Given the description of an element on the screen output the (x, y) to click on. 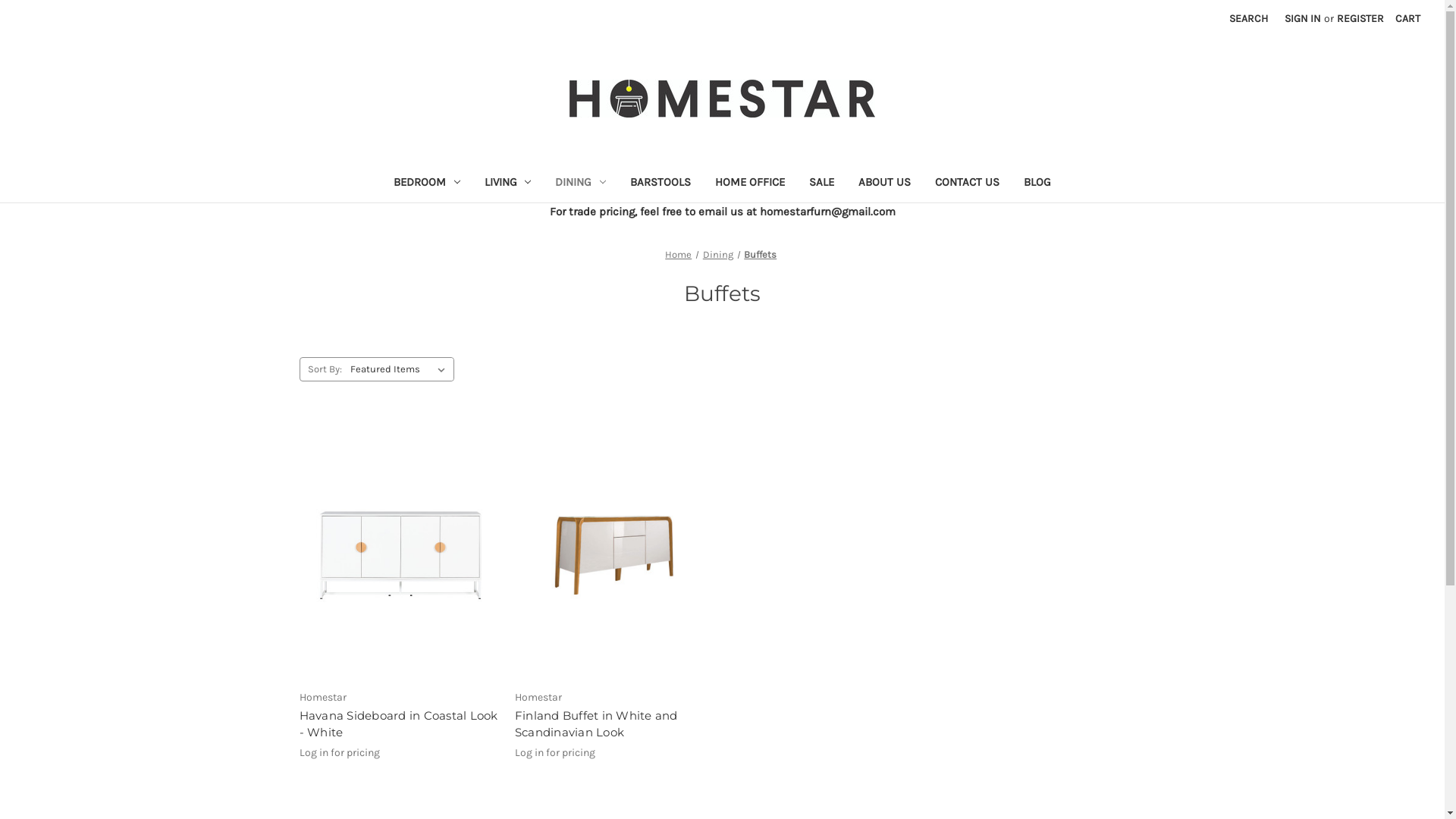
CONTACT US Element type: text (966, 183)
Home Element type: text (678, 254)
LIVING Element type: text (506, 183)
Havana Sideboard in Coastal Look - White Element type: hover (398, 549)
REGISTER Element type: text (1360, 18)
Havana Sideboard in Coastal Look - White Element type: text (398, 724)
Finland Buffet in White and Scandinavian Look Element type: text (614, 724)
BEDROOM Element type: text (426, 183)
SEARCH Element type: text (1248, 18)
ABOUT US Element type: text (884, 183)
Buffets Element type: text (759, 254)
DINING Element type: text (580, 183)
Homestar Furniture & Homewares Element type: hover (722, 98)
SIGN IN Element type: text (1302, 18)
Dining Element type: text (717, 254)
BLOG Element type: text (1037, 183)
CART Element type: text (1407, 18)
HOME OFFICE Element type: text (749, 183)
BARSTOOLS Element type: text (660, 183)
SALE Element type: text (821, 183)
Finland Buffet in White and Scandinavian Look Element type: hover (614, 548)
